Given the description of an element on the screen output the (x, y) to click on. 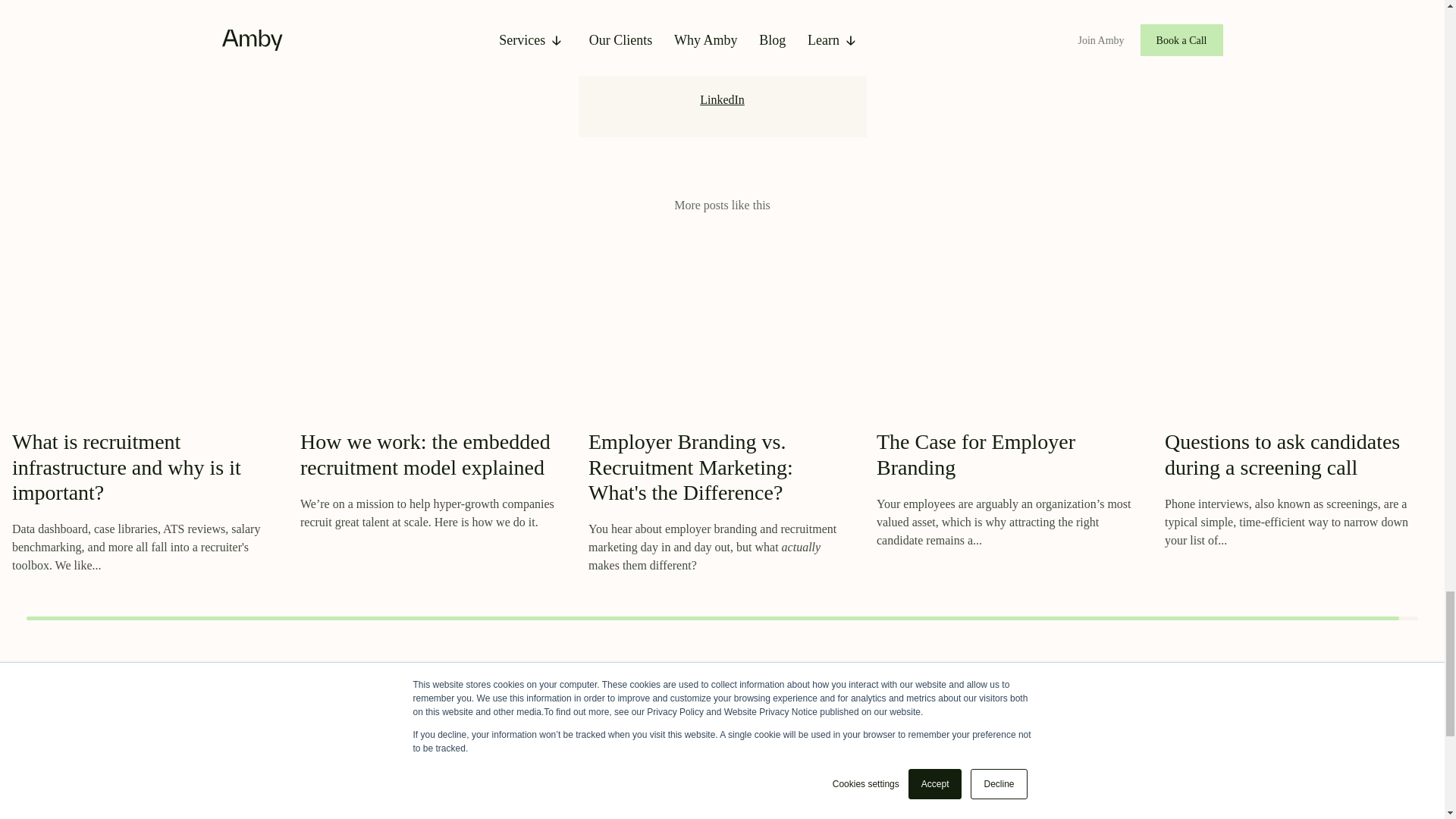
Meagan Leber (722, 4)
What is recruitment infrastructure and why is it important? (126, 466)
The Case for Employer Branding (975, 454)
Questions to ask candidates during a screening call (1281, 454)
Questions to ask candidates during a screening call (1281, 454)
How we work: the embedded recruitment model explained (424, 454)
What is recruitment infrastructure and why is it important? (126, 466)
Absolut theme logo (274, 813)
LinkedIn (722, 99)
How we work: the embedded recruitment model explained (424, 454)
The Case for Employer Branding (975, 454)
